Given the description of an element on the screen output the (x, y) to click on. 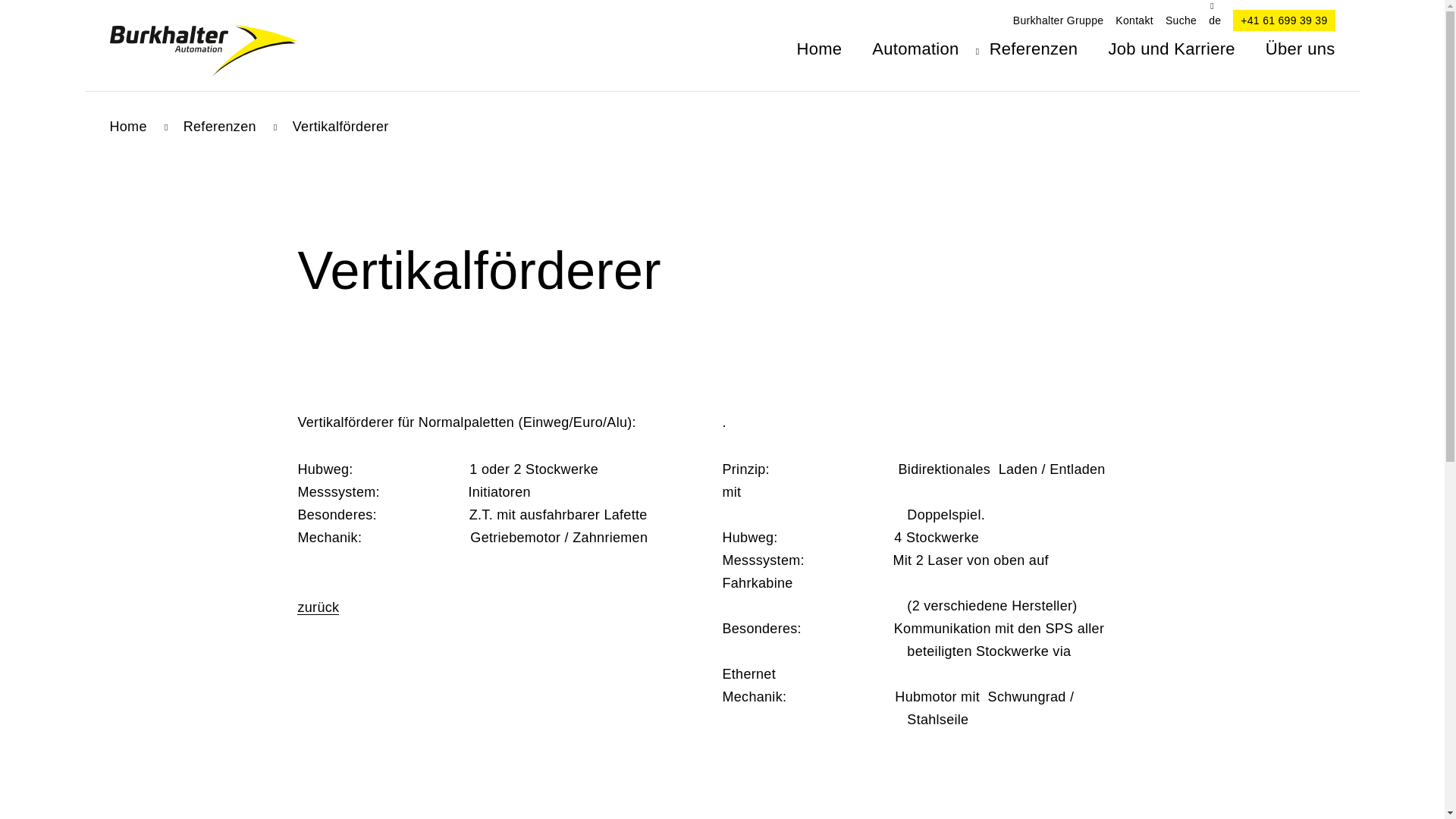
Home Element type: text (818, 49)
Referenzen Element type: text (219, 126)
Referenzen Element type: text (1033, 49)
Kontakt Element type: text (1134, 20)
Automation Element type: text (915, 49)
de Element type: text (1214, 20)
Burkhalter Gruppe Element type: text (1058, 20)
Home Element type: text (127, 126)
+41 61 699 39 39 Element type: text (1283, 20)
Suche Element type: text (1180, 20)
Job und Karriere Element type: text (1170, 49)
